Given the description of an element on the screen output the (x, y) to click on. 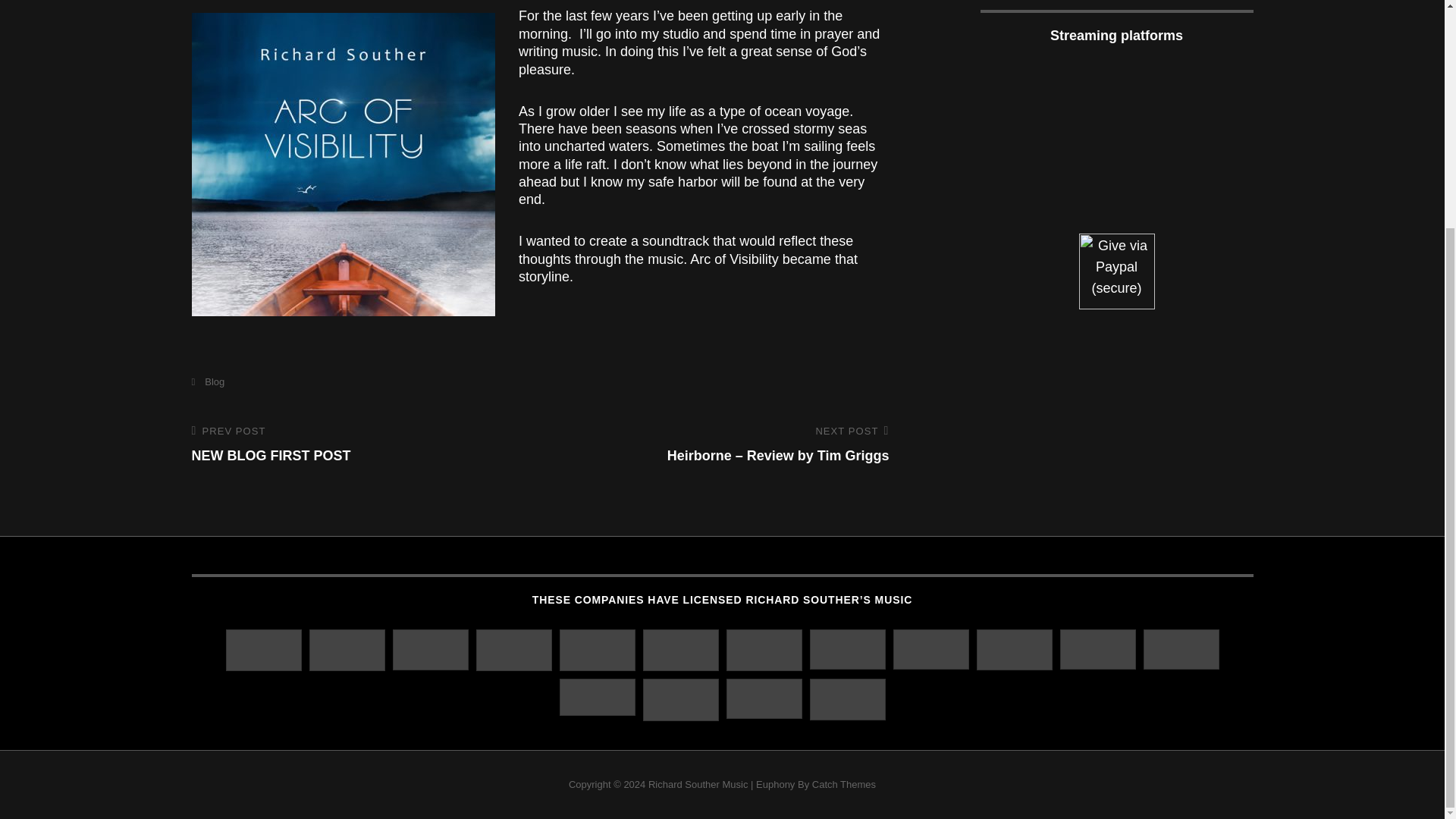
Blog (207, 381)
